Given the description of an element on the screen output the (x, y) to click on. 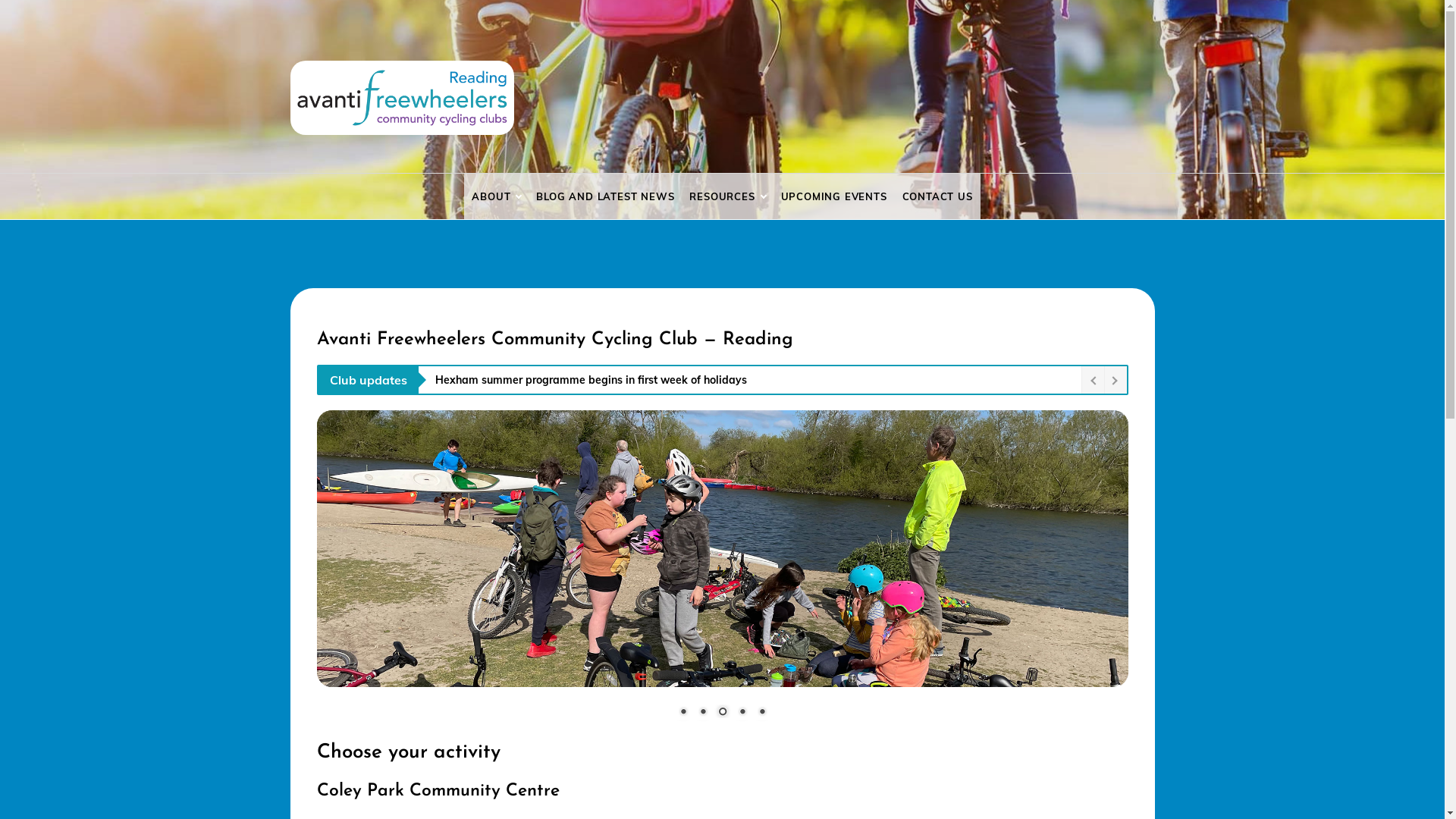
CONTACT US Element type: text (937, 196)
5 Element type: text (761, 712)
RESOURCES Element type: text (726, 196)
Hexham summer programme begins in first week of holidays Element type: text (754, 379)
1 Element type: text (682, 712)
4 Element type: text (742, 712)
2 Element type: text (702, 712)
ABOUT Element type: text (496, 196)
3 Element type: text (722, 712)
UPCOMING EVENTS Element type: text (833, 196)
BLOG AND LATEST NEWS Element type: text (604, 196)
